Given the description of an element on the screen output the (x, y) to click on. 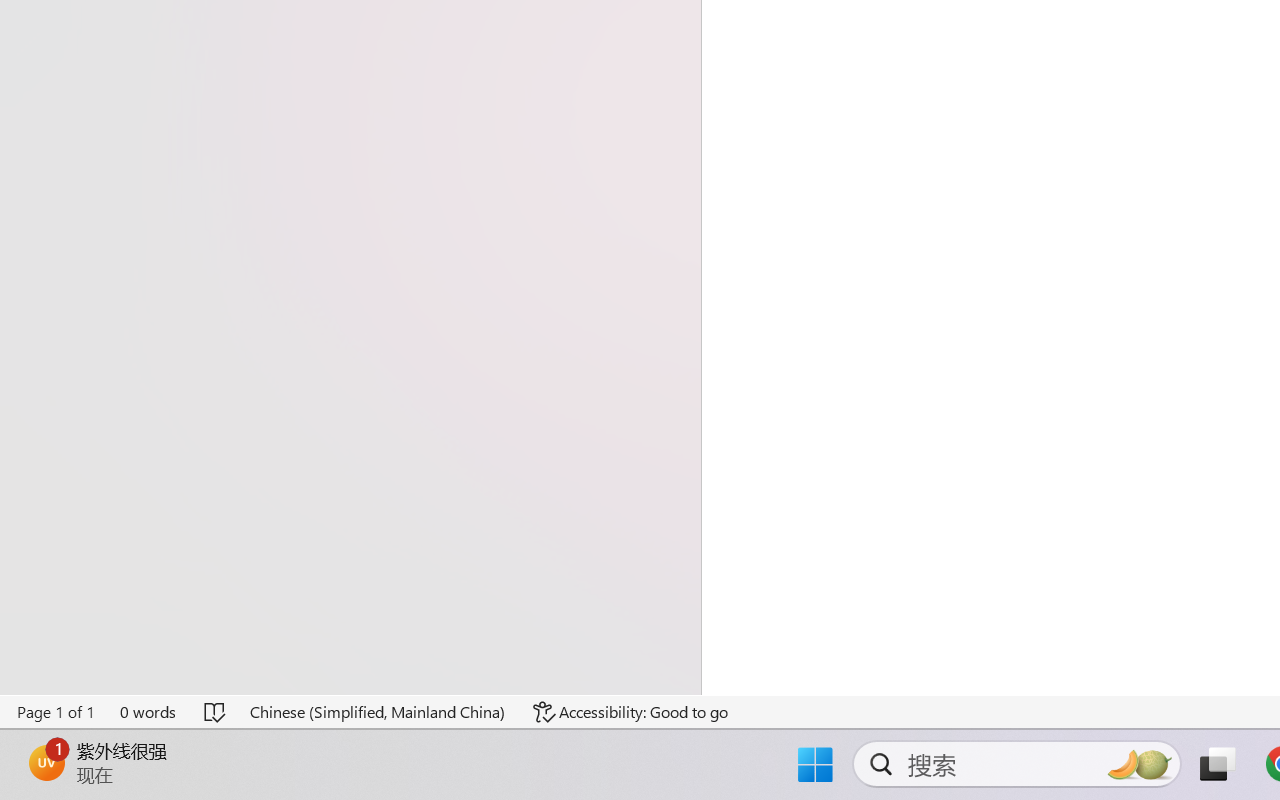
Language Chinese (Simplified, Mainland China) (378, 712)
